Given the description of an element on the screen output the (x, y) to click on. 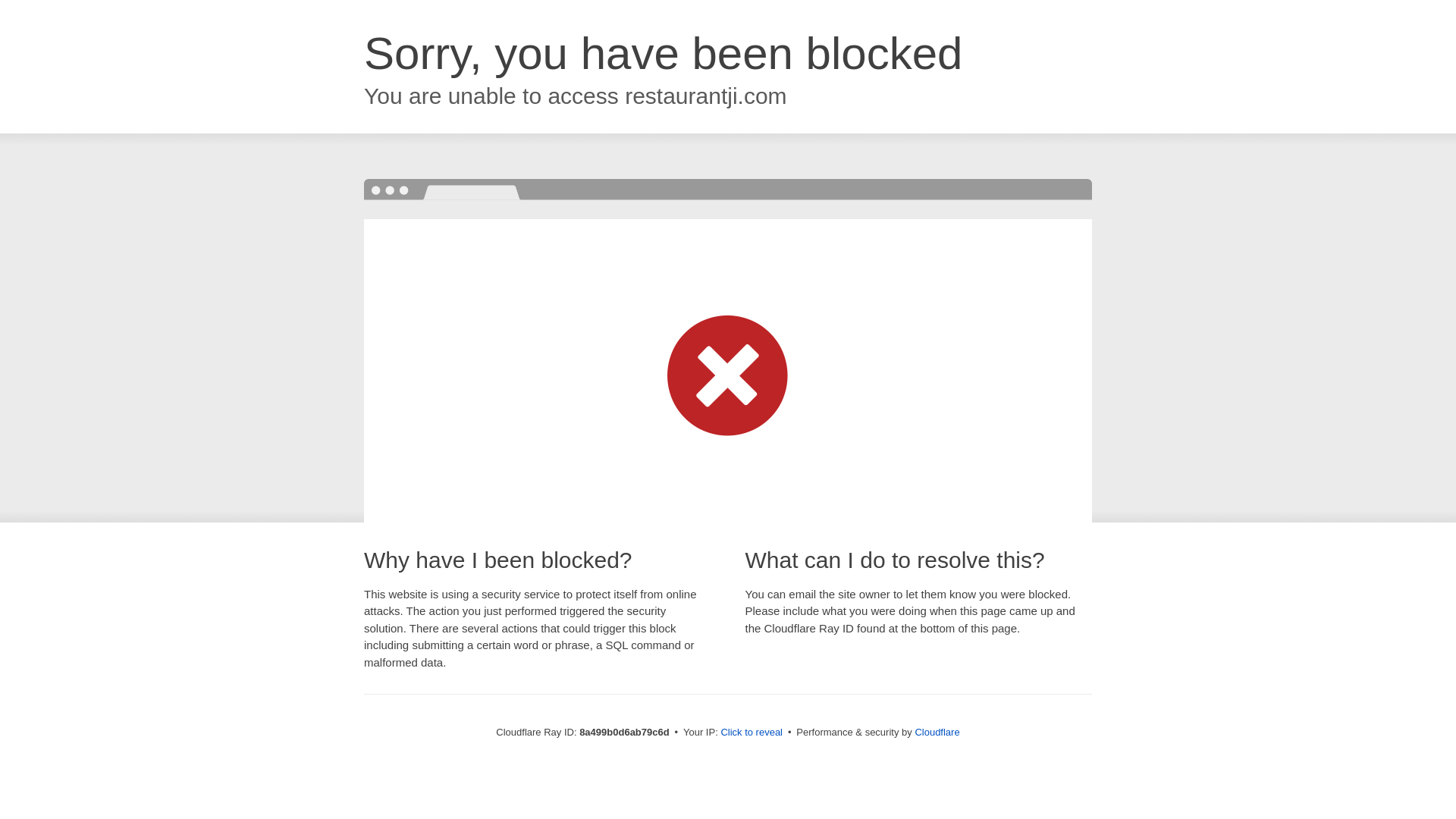
Click to reveal (751, 732)
Cloudflare (936, 731)
